Given the description of an element on the screen output the (x, y) to click on. 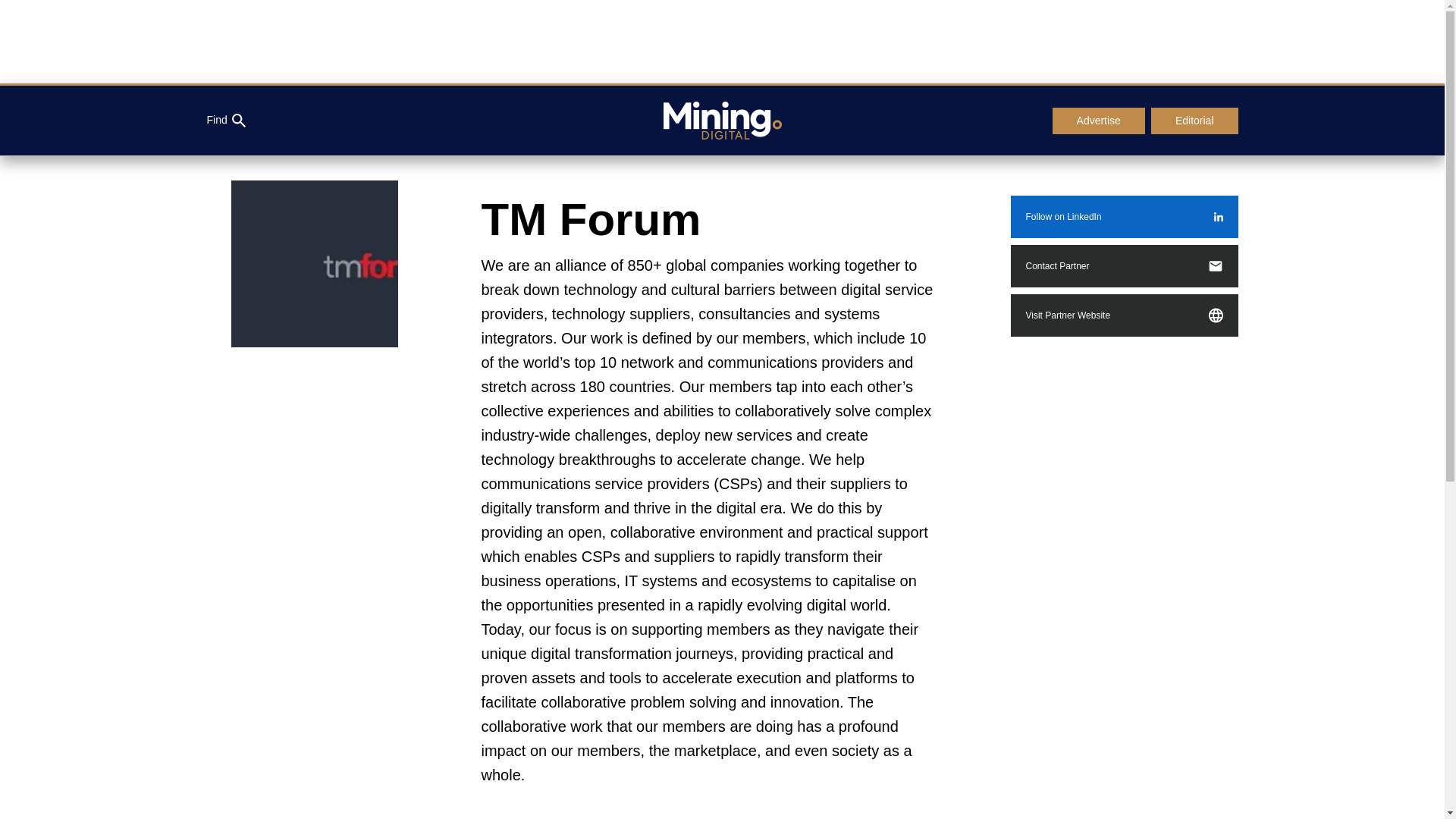
Visit Partner Website (1123, 315)
Editorial (1195, 121)
Advertise (1098, 121)
Contact Partner (1123, 265)
Find (225, 120)
Follow on LinkedIn (1123, 216)
